Given the description of an element on the screen output the (x, y) to click on. 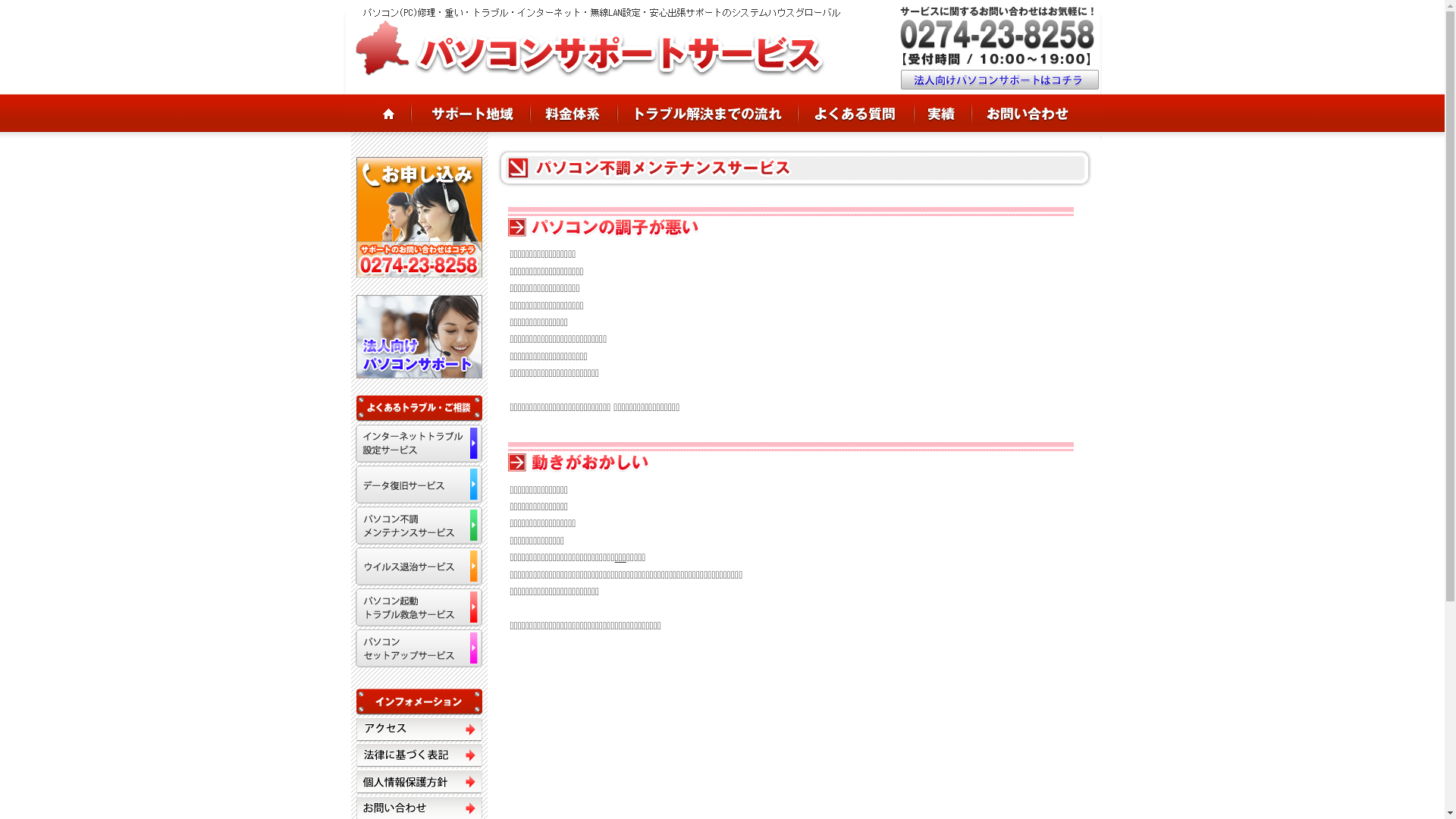
HOME Element type: text (376, 112)
